Given the description of an element on the screen output the (x, y) to click on. 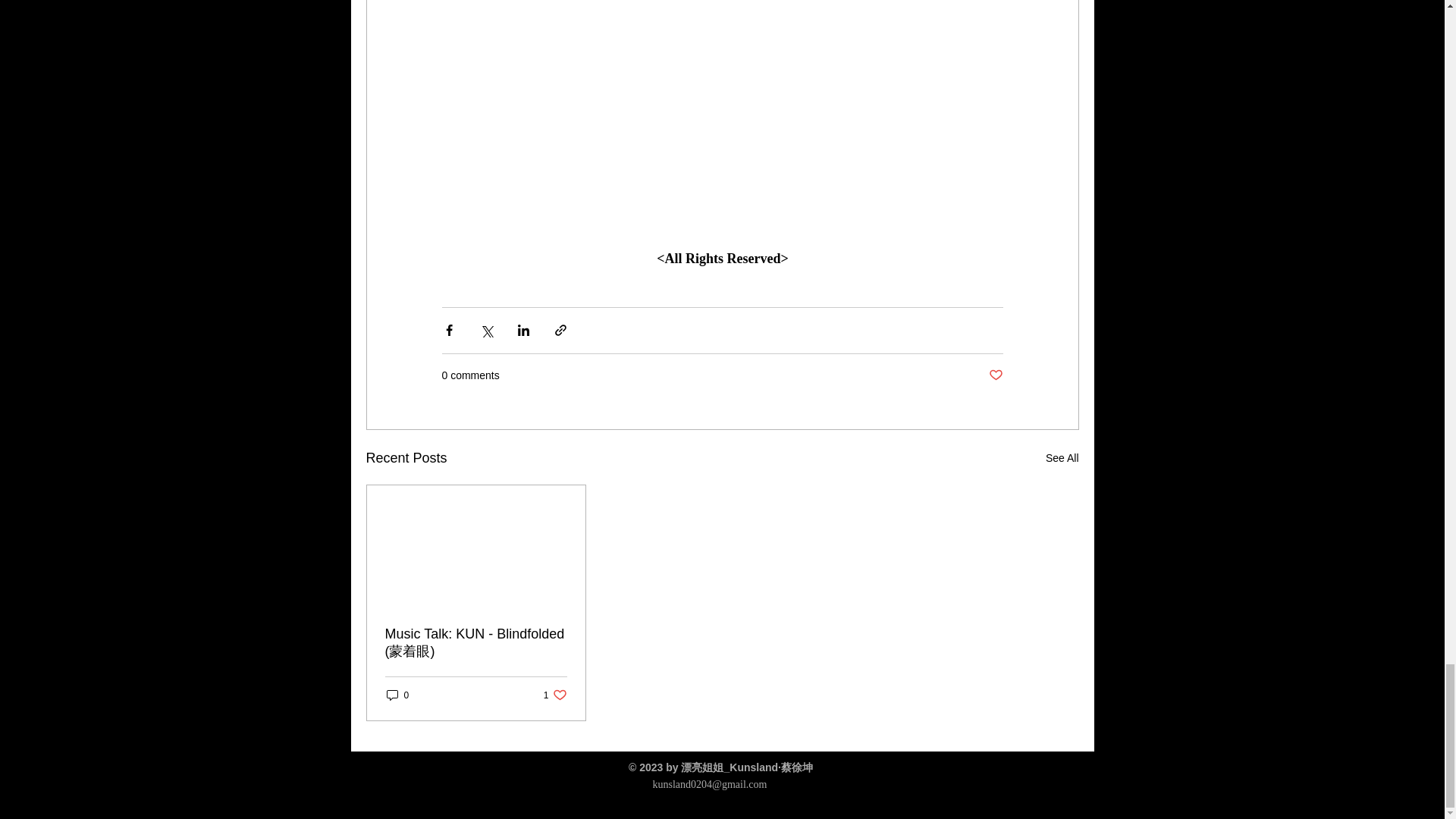
See All (1061, 458)
Post not marked as liked (555, 694)
0 (995, 375)
